Given the description of an element on the screen output the (x, y) to click on. 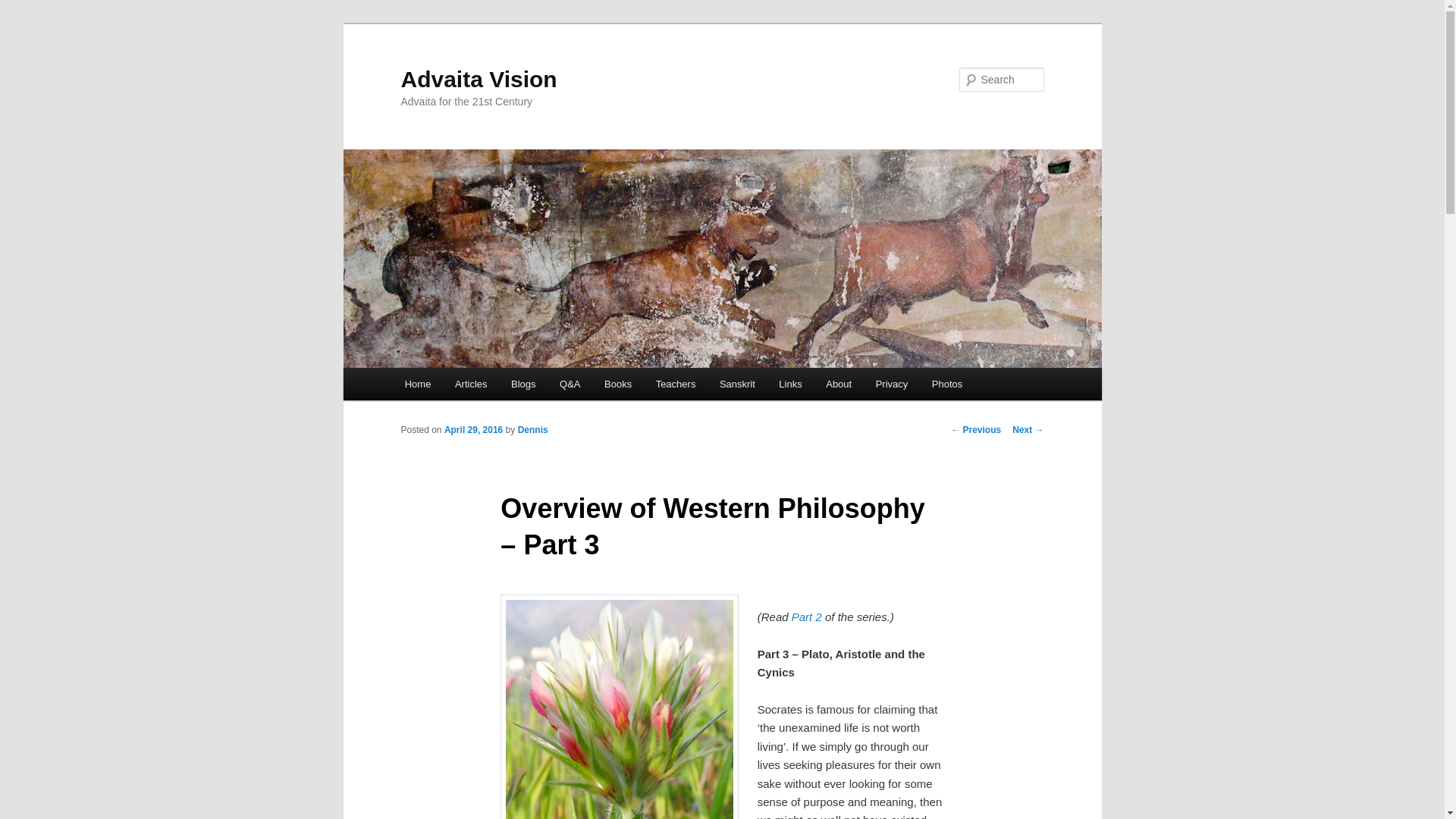
April 29, 2016 (473, 429)
Links (790, 383)
Sanskrit (737, 383)
Books (617, 383)
Articles (470, 383)
Blogs (523, 383)
View all posts by Dennis (533, 429)
Home (417, 383)
Photos (947, 383)
Search (24, 8)
10:43 (473, 429)
Teachers (675, 383)
